Given the description of an element on the screen output the (x, y) to click on. 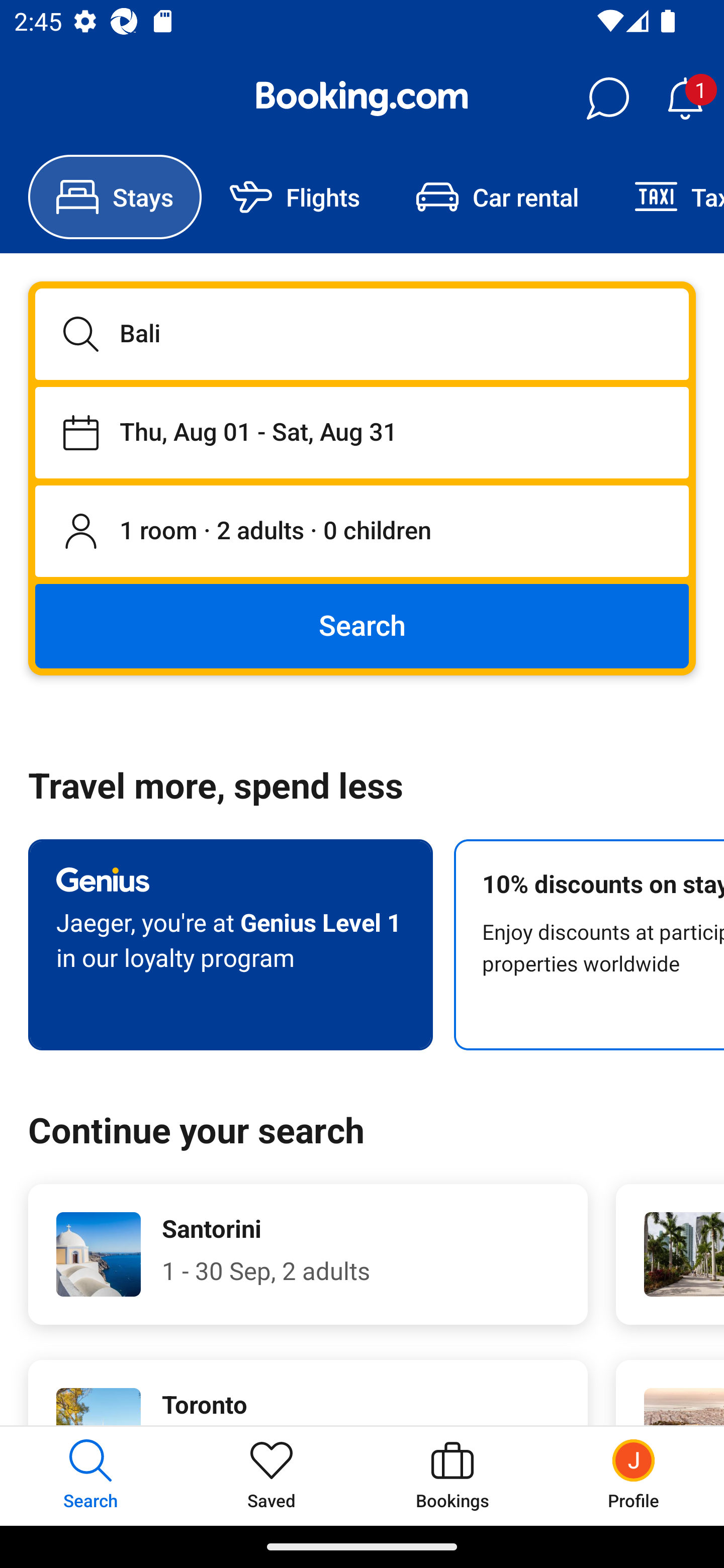
Messages (607, 98)
Notifications (685, 98)
Stays (114, 197)
Flights (294, 197)
Car rental (497, 197)
Taxi (665, 197)
Bali (361, 333)
Staying from Thu, Aug 01 until Sat, Aug 31 (361, 432)
1 room, 2 adults, 0 children (361, 531)
Search (361, 625)
Santorini 1 - 30 Sep, 2 adults (307, 1253)
Saved (271, 1475)
Bookings (452, 1475)
Profile (633, 1475)
